Given the description of an element on the screen output the (x, y) to click on. 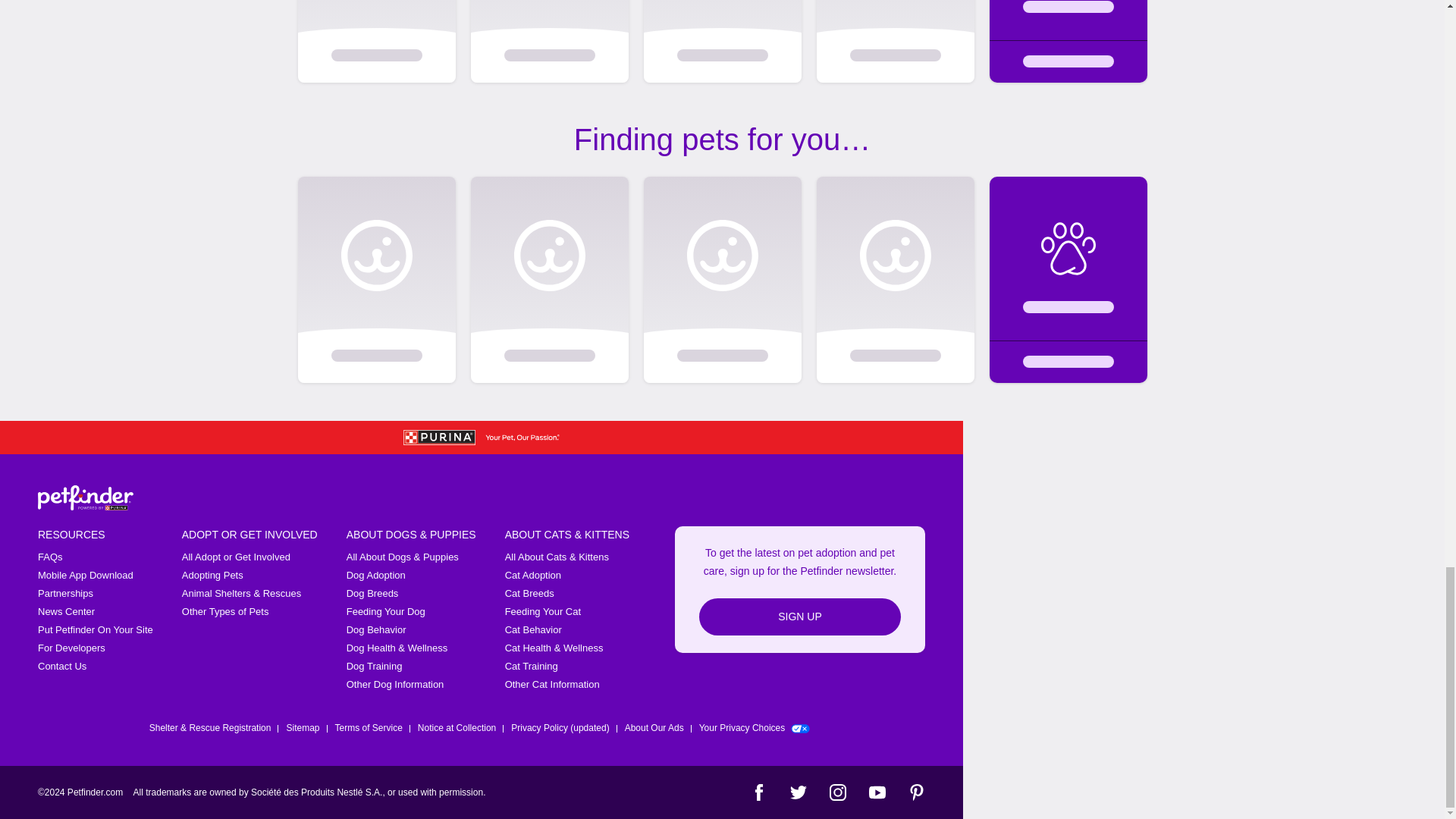
YouTube (877, 791)
Twitter (798, 791)
Pinterest (916, 791)
Instagram (837, 791)
Facebook (759, 791)
Petfinder Logo (85, 497)
